Given the description of an element on the screen output the (x, y) to click on. 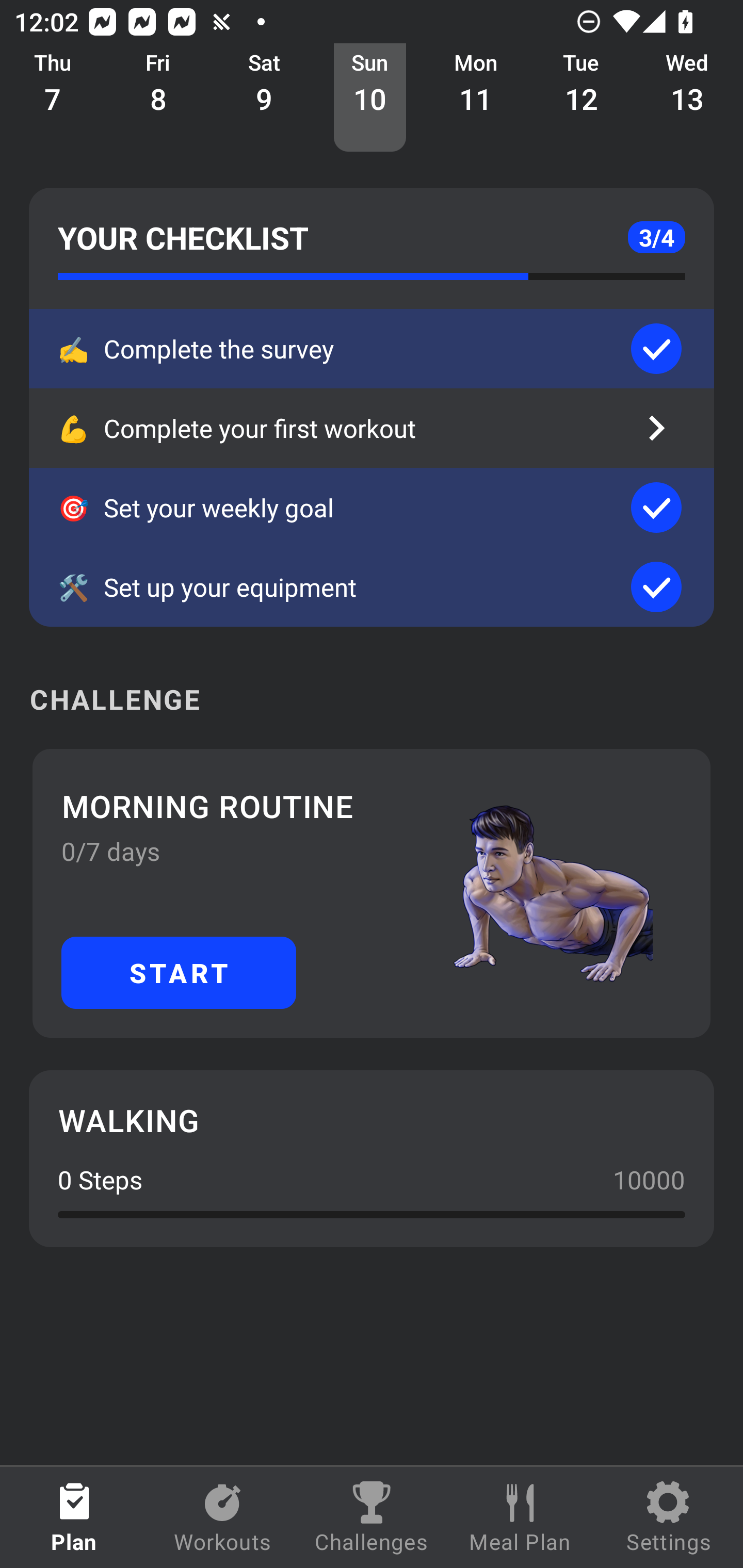
Thu 7 (52, 97)
Fri 8 (158, 97)
Sat 9 (264, 97)
Sun 10 (369, 97)
Mon 11 (475, 97)
Tue 12 (581, 97)
Wed 13 (687, 97)
💪 Complete your first workout (371, 427)
MORNING ROUTINE 0/7 days START (371, 892)
START (178, 972)
WALKING 0 Steps 10000 0.0 (371, 1158)
 Workouts  (222, 1517)
 Challenges  (371, 1517)
 Meal Plan  (519, 1517)
 Settings  (668, 1517)
